Given the description of an element on the screen output the (x, y) to click on. 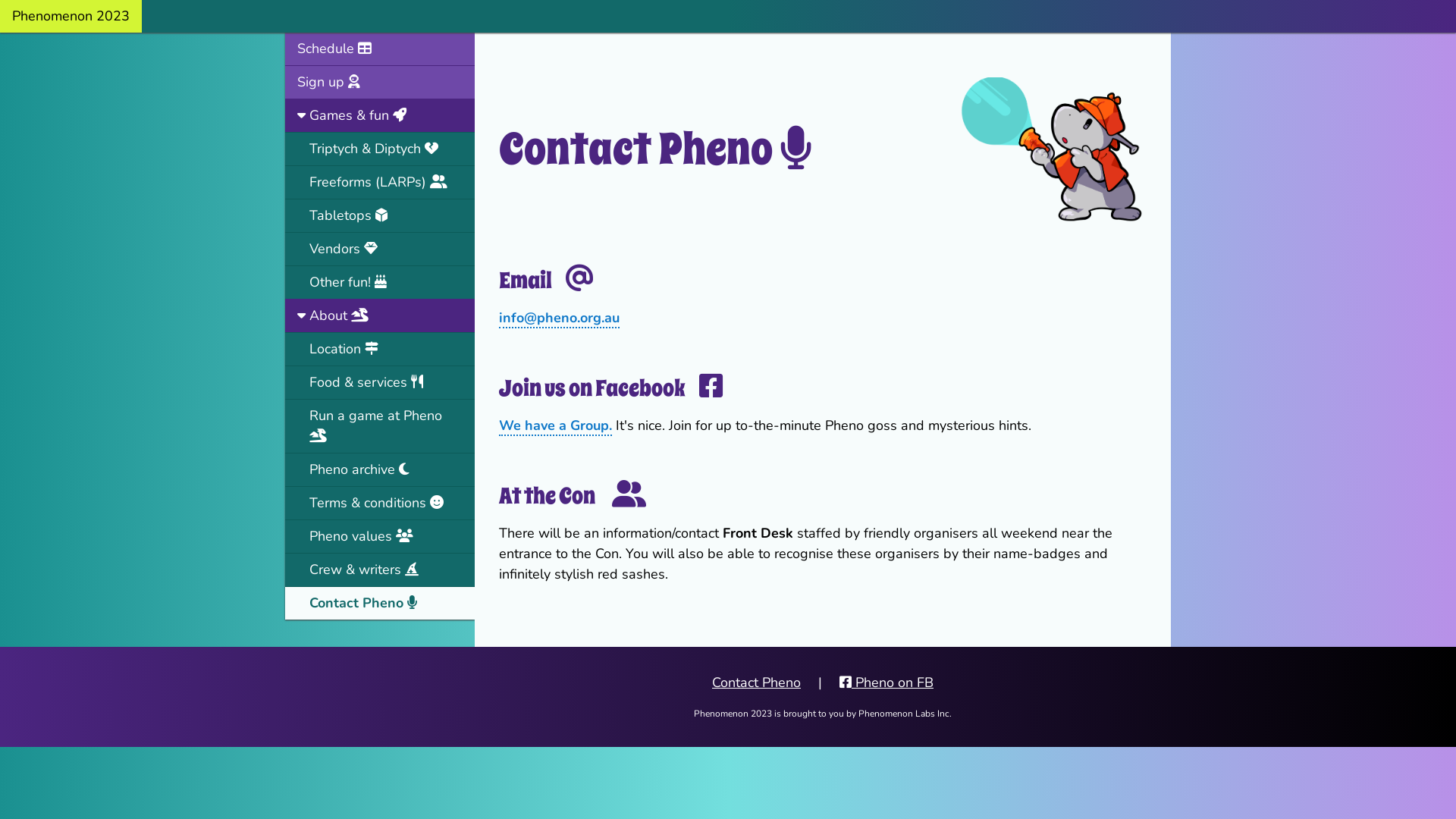
Sign up Element type: text (379, 81)
Other fun! Element type: text (379, 281)
Games & fun Element type: text (379, 114)
Terms & conditions Element type: text (379, 502)
Crew & writers Element type: text (379, 569)
Triptych & Diptych Element type: text (379, 148)
Freeforms (LARPs) Element type: text (379, 181)
Contact Pheno Element type: text (756, 682)
Pheno archive Element type: text (379, 469)
Pheno values Element type: text (379, 535)
Tabletops Element type: text (379, 215)
Location Element type: text (379, 348)
Food & services Element type: text (379, 381)
Run a game at Pheno Element type: text (379, 425)
Vendors Element type: text (379, 248)
Phenomenon 2023 Element type: text (70, 16)
info@pheno.org.au Element type: text (558, 318)
Contact Pheno Element type: text (379, 602)
We have a Group. Element type: text (554, 426)
 Pheno on FB Element type: text (879, 682)
About Element type: text (379, 315)
Schedule Element type: text (379, 48)
